Given the description of an element on the screen output the (x, y) to click on. 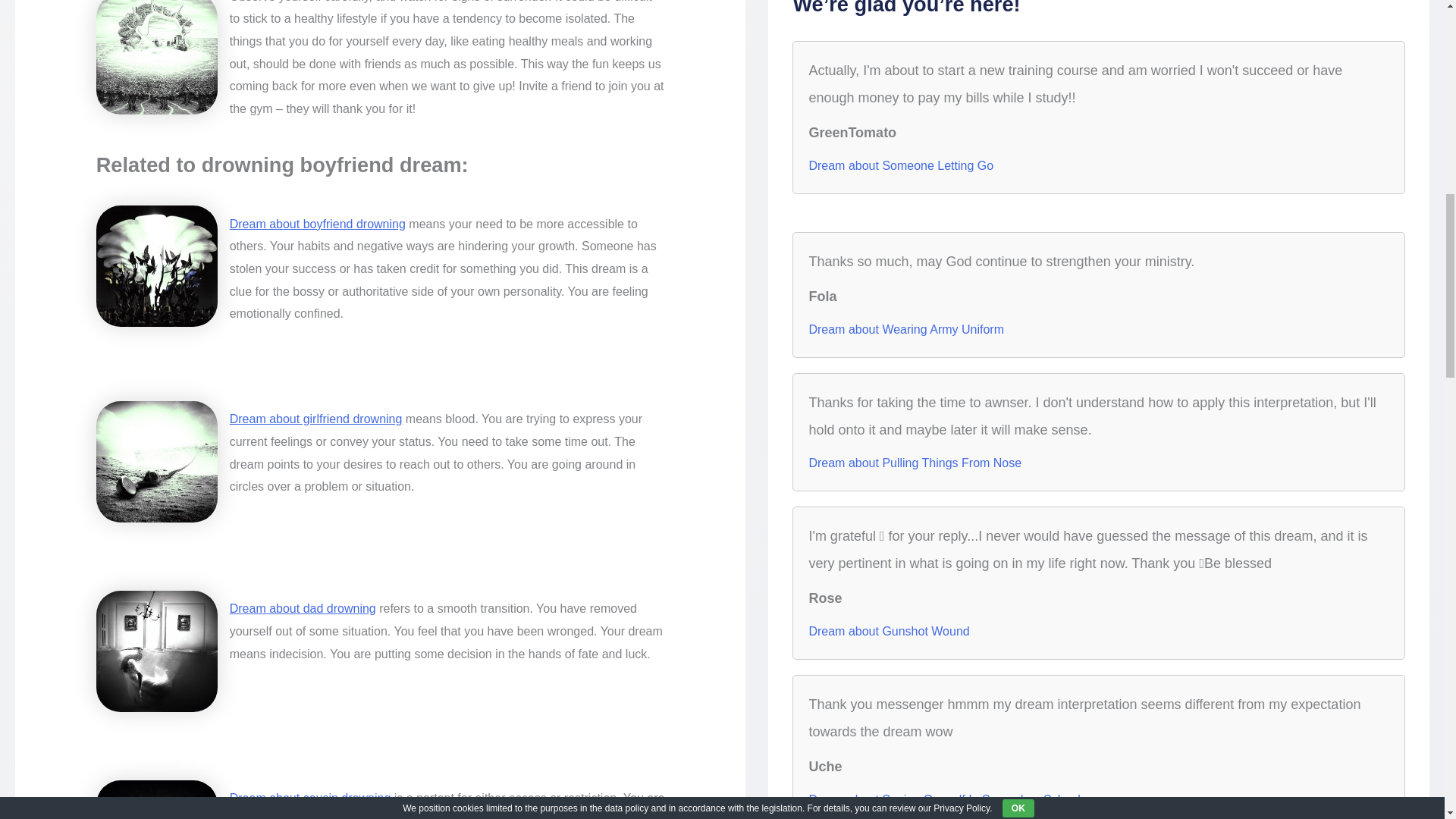
Dream about Someone Letting Go (900, 165)
Dream about Gunshot Wound (888, 631)
Dream about Seeing Oneself In Secondary School (944, 799)
Dream about Wearing Army Uniform (906, 329)
Dream about cousin drowning (310, 797)
Dream about Pulling Things From Nose (915, 463)
Dream about dad drowning (302, 608)
Dream about boyfriend drowning (318, 223)
Dream about girlfriend drowning (316, 418)
